Given the description of an element on the screen output the (x, y) to click on. 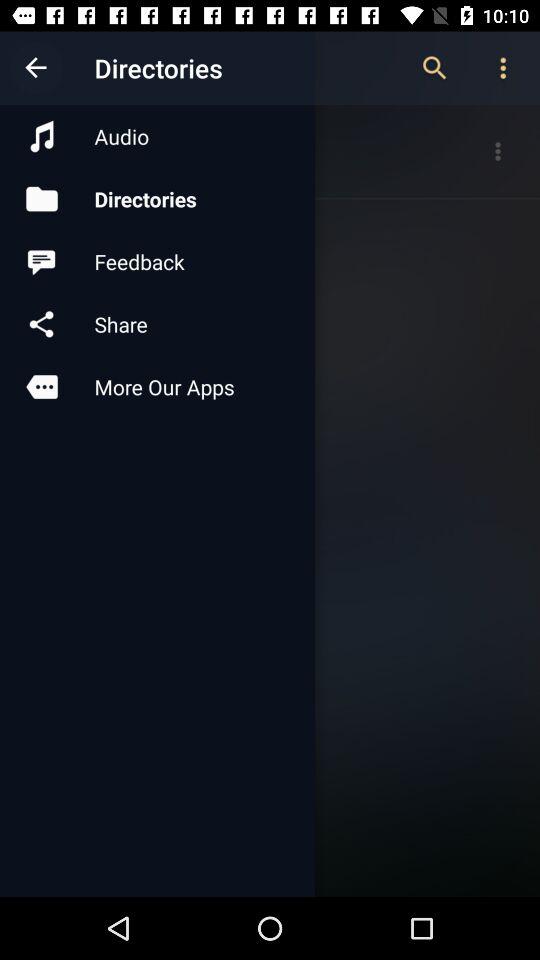
select the second icon which is at the top right corner (503, 67)
